Given the description of an element on the screen output the (x, y) to click on. 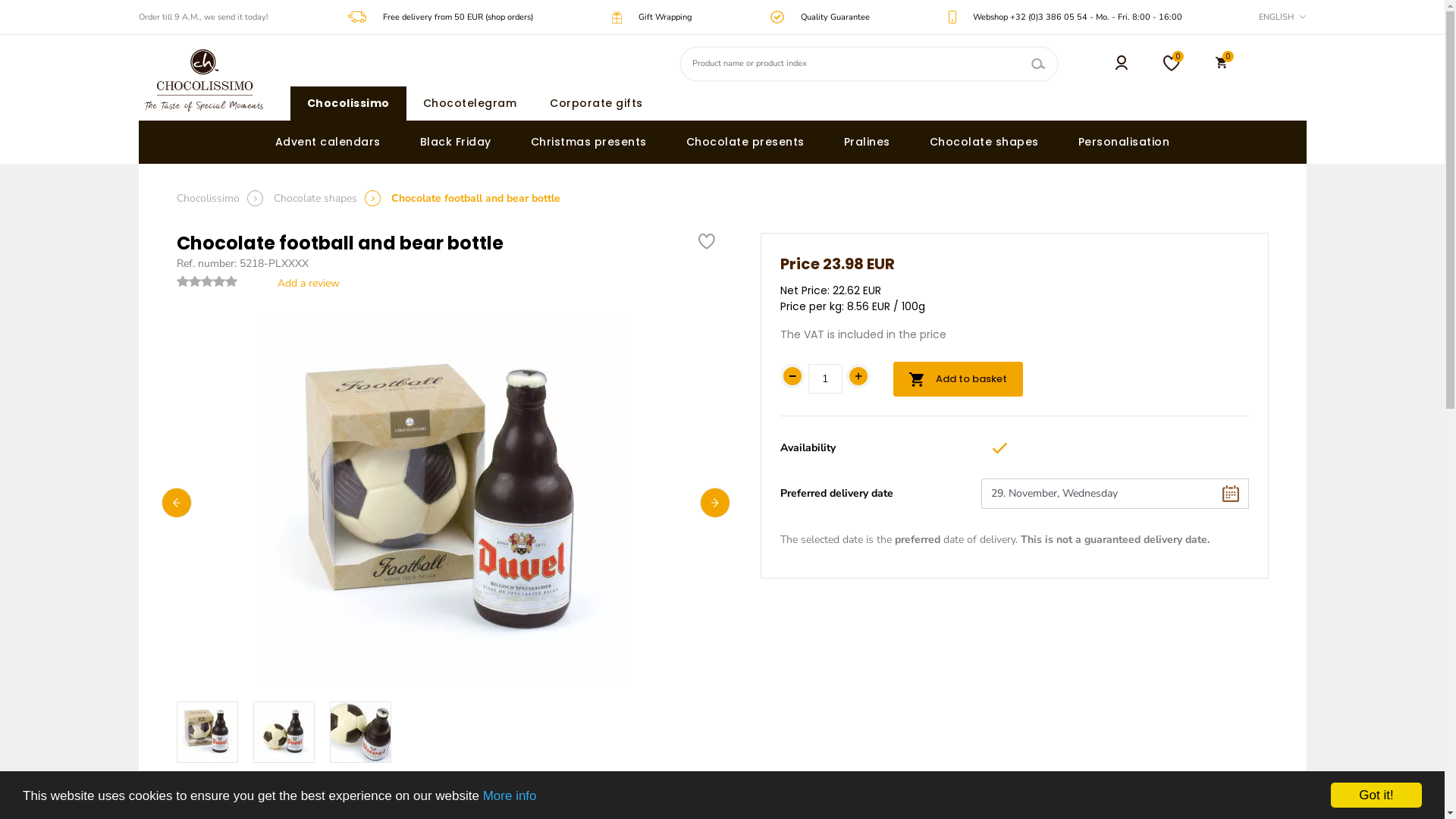
Corporate gifts Element type: text (596, 103)
Gift Wrapping Element type: text (664, 16)
+ Element type: text (858, 376)
 Add to basket Element type: text (957, 378)
Got it! Element type: text (1375, 794)
Chocolate shapes Element type: text (984, 141)
Chocolate presents Element type: text (745, 141)
- Element type: text (791, 376)
Personalisation Element type: text (1123, 141)
Logo Chocolissimo Element type: hover (202, 79)
Christmas presents Element type: text (588, 141)
  Add a review Element type: text (305, 283)
Advent calendars Element type: text (327, 141)
Pralines Element type: text (867, 141)
0 Element type: text (1221, 63)
Chocolate shapes Element type: text (314, 198)
Black Friday Element type: text (455, 141)
0 Element type: text (1171, 63)
More info Element type: text (509, 795)
Chocotelegram Element type: text (469, 103)
ENGLISH Element type: text (1281, 16)
Chocolissimo Element type: text (206, 198)
Quality Guarantee Element type: text (834, 16)
Free delivery from 50 EUR (shop orders) Element type: text (457, 16)
Chocolissimo Element type: text (348, 103)
